Given the description of an element on the screen output the (x, y) to click on. 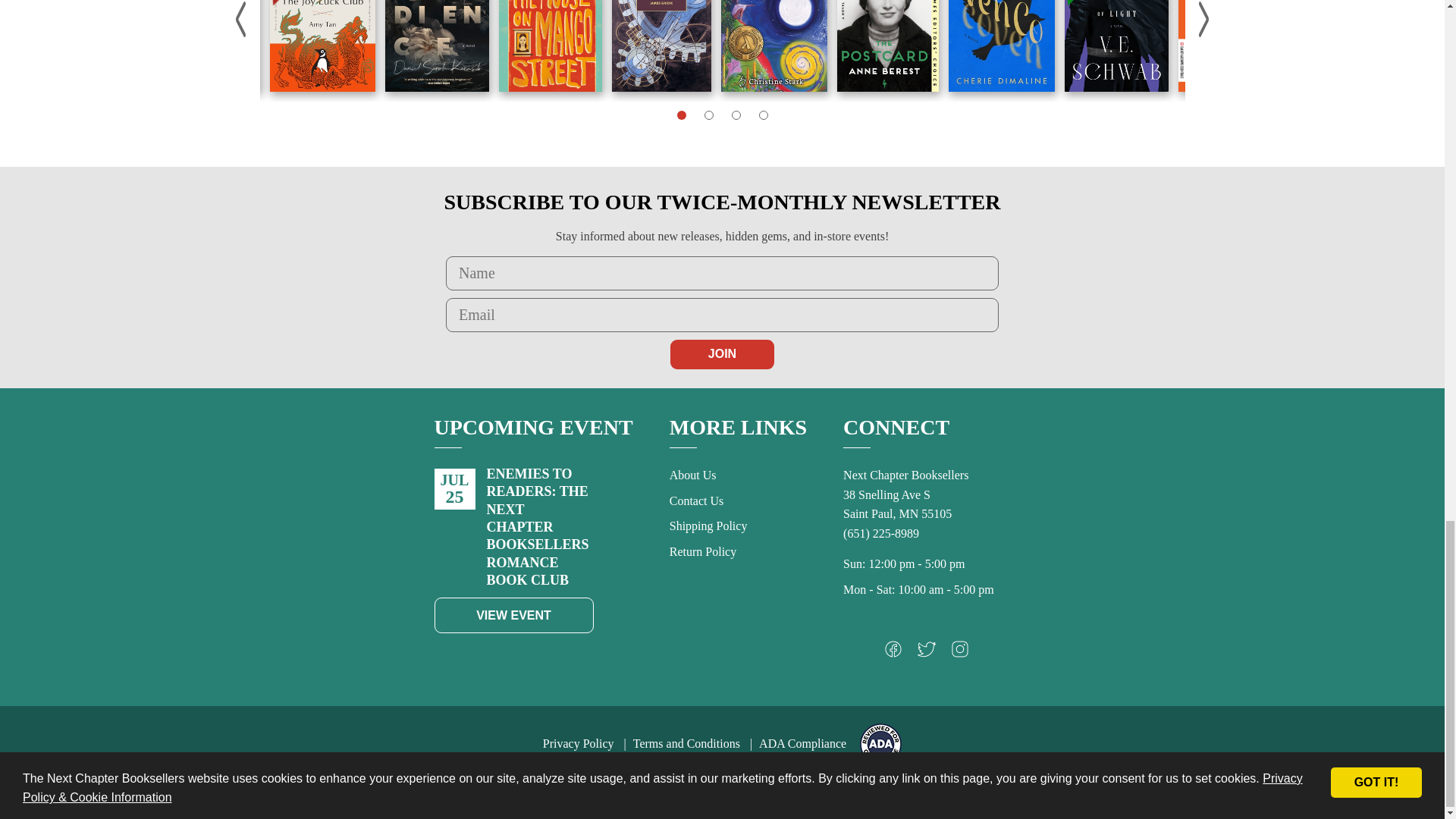
Connect with Facebook (892, 652)
Join (721, 353)
Connect with Instagram (959, 652)
Connect with Twitter (926, 652)
